Given the description of an element on the screen output the (x, y) to click on. 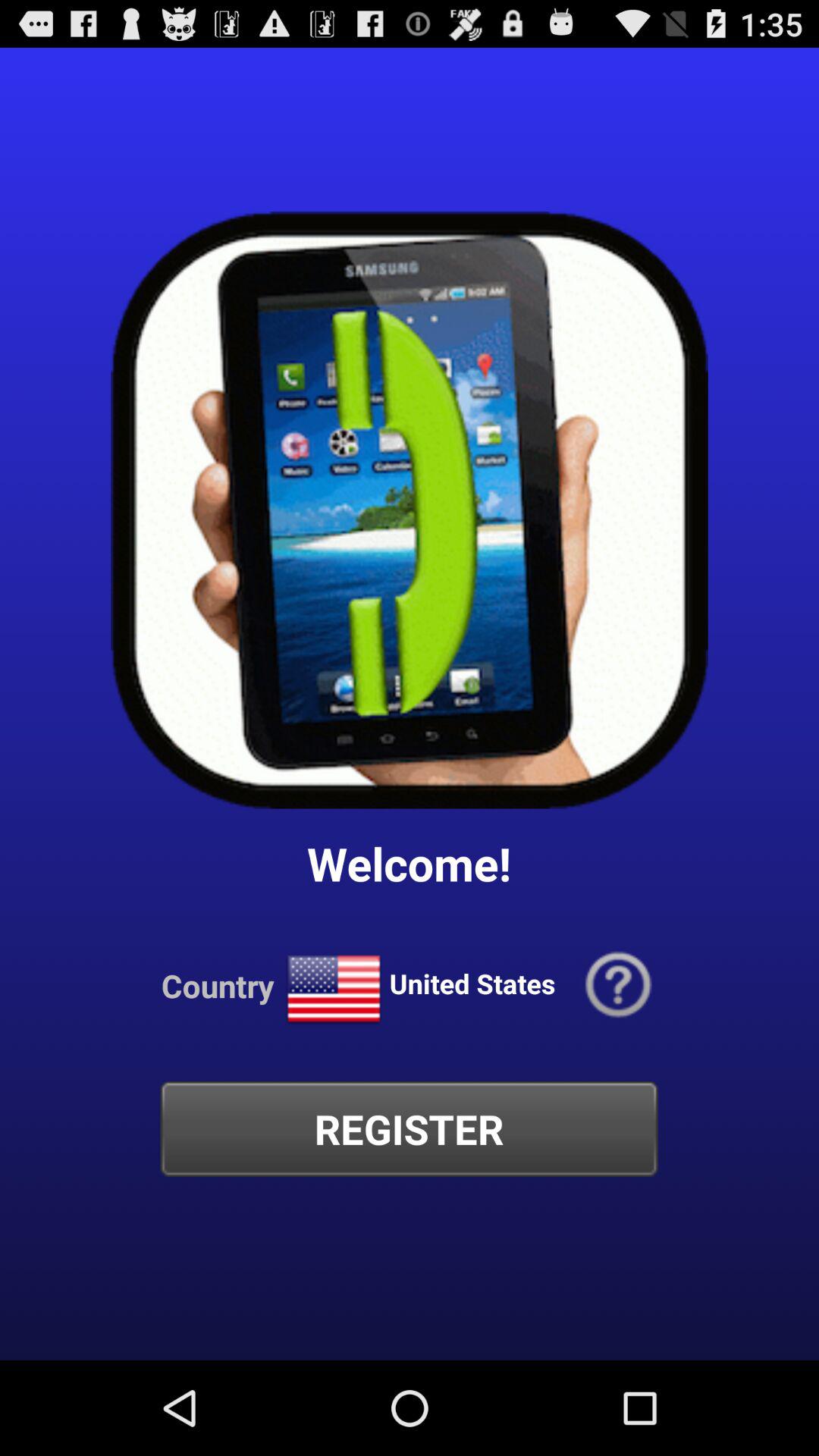
click the icon below the welcome! (333, 989)
